Given the description of an element on the screen output the (x, y) to click on. 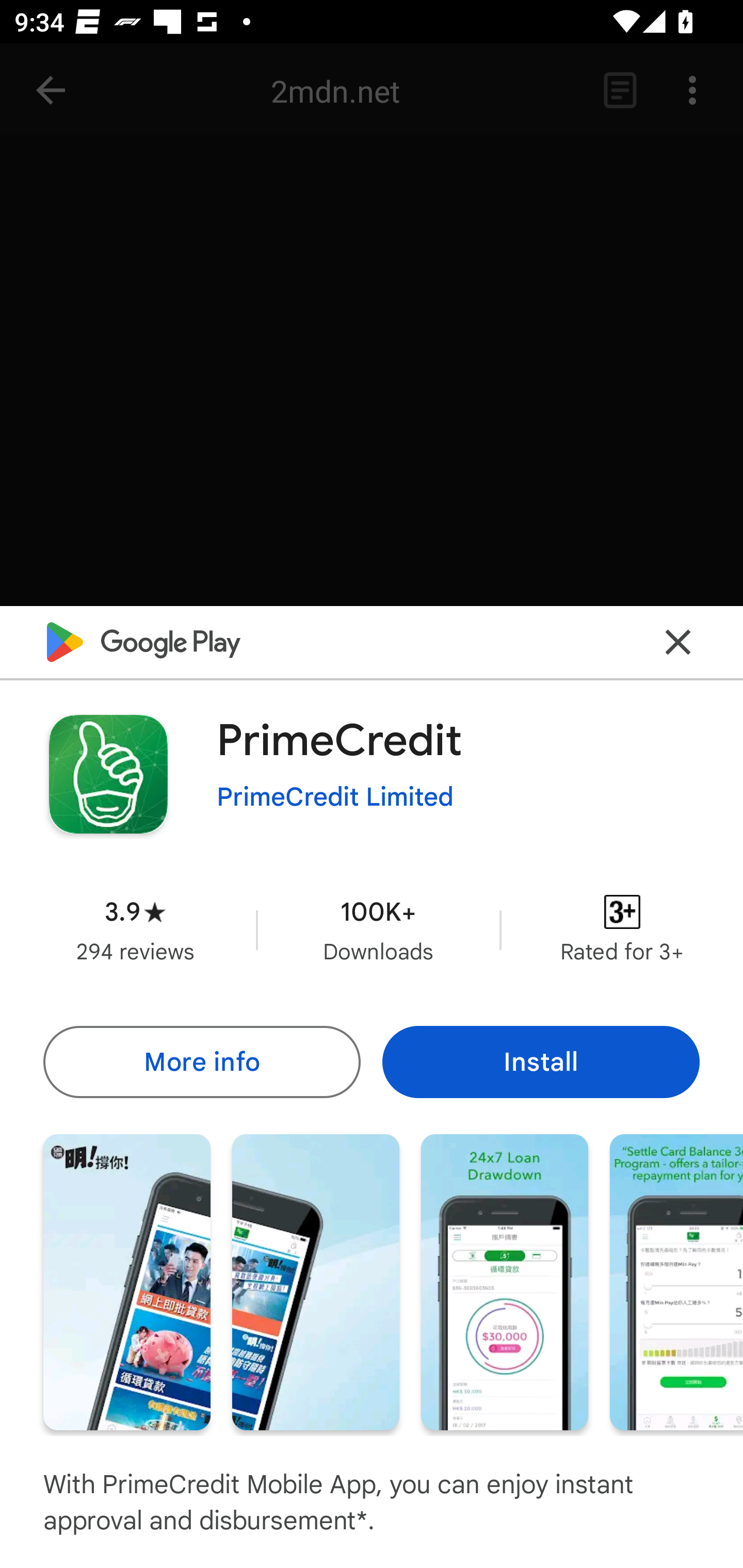
Close (677, 642)
Image of app or game icon for PrimeCredit (108, 773)
PrimeCredit Limited (334, 796)
More info (201, 1061)
Install (540, 1061)
Screenshot "1" of "4" (126, 1281)
Screenshot "2" of "4" (315, 1281)
Screenshot "3" of "4" (504, 1281)
Screenshot "4" of "4" (676, 1281)
